Given the description of an element on the screen output the (x, y) to click on. 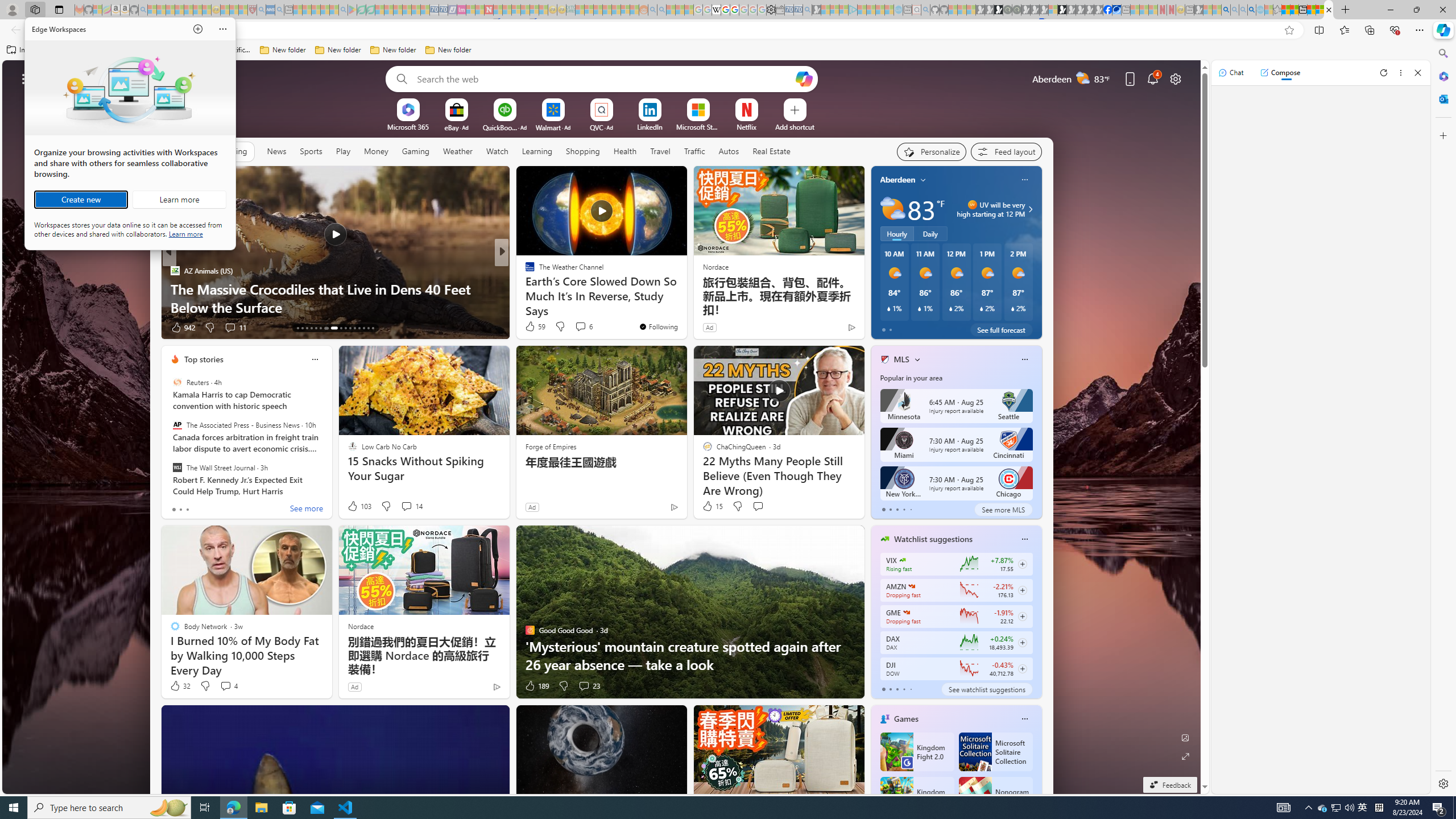
Gaming (415, 151)
github - Search - Sleeping (924, 9)
AutomationID: tab-16 (311, 328)
AutomationID: tab-28 (372, 328)
See watchlist suggestions (986, 689)
View comments 6 Comment (580, 326)
tab-2 (897, 689)
